Given the description of an element on the screen output the (x, y) to click on. 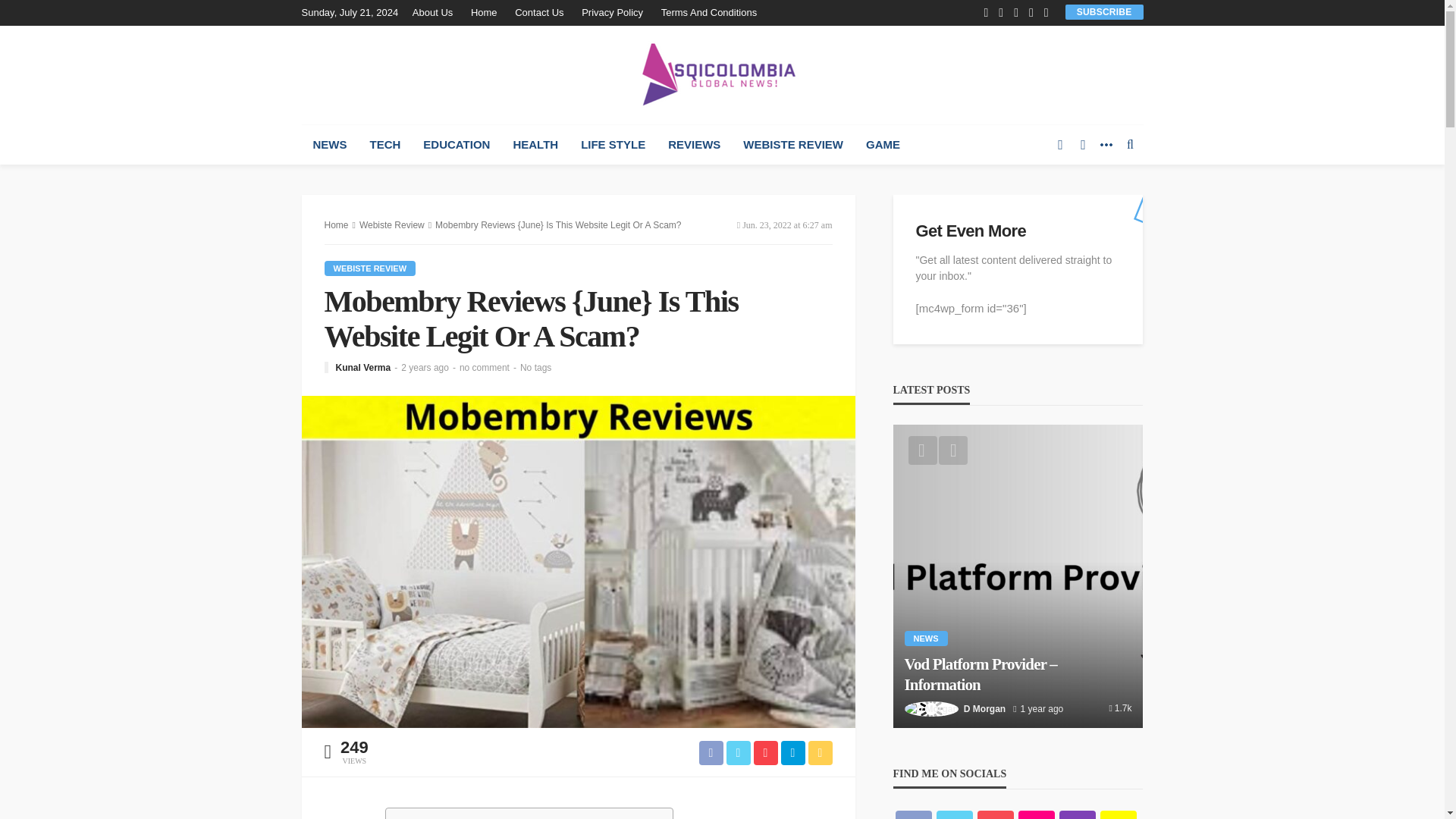
Home (484, 12)
Privacy Policy (611, 12)
sqicolombia (721, 74)
REVIEWS (694, 144)
Contact Us (538, 12)
LIFE STYLE (612, 144)
EDUCATION (456, 144)
TECH (385, 144)
SUBSCRIBE (1103, 11)
Terms And Conditions (708, 12)
NEWS (329, 144)
About Us (436, 12)
subscribe (1103, 11)
HEALTH (534, 144)
